Given the description of an element on the screen output the (x, y) to click on. 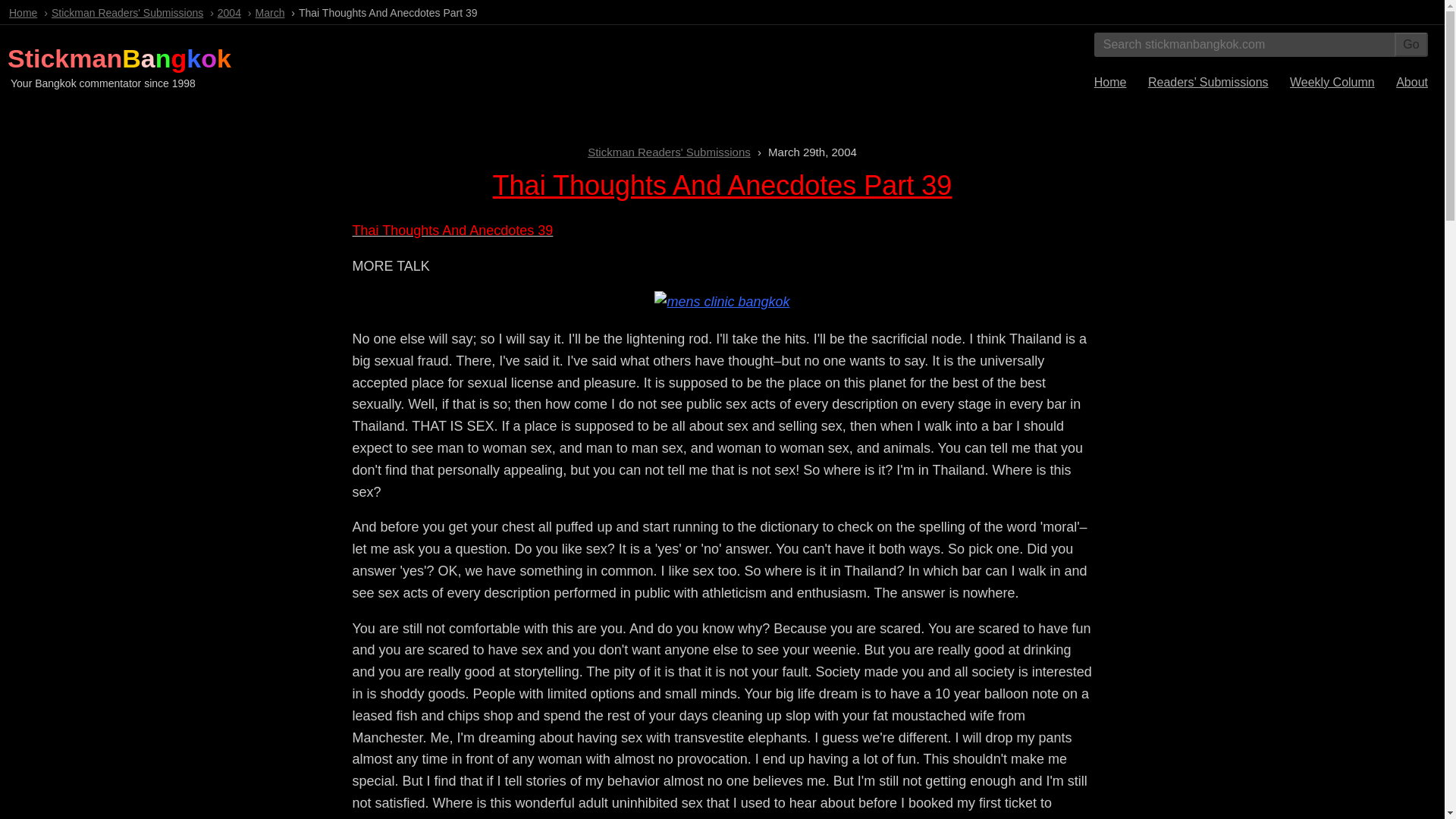
StickmanBangkok (119, 58)
2004 (228, 12)
March (270, 12)
Home (1109, 82)
Home (22, 12)
Stickman Readers' Submissions (669, 151)
Weekly Column (1332, 82)
Stickman Readers' Submissions (126, 12)
About (1412, 82)
Go (1411, 44)
